Given the description of an element on the screen output the (x, y) to click on. 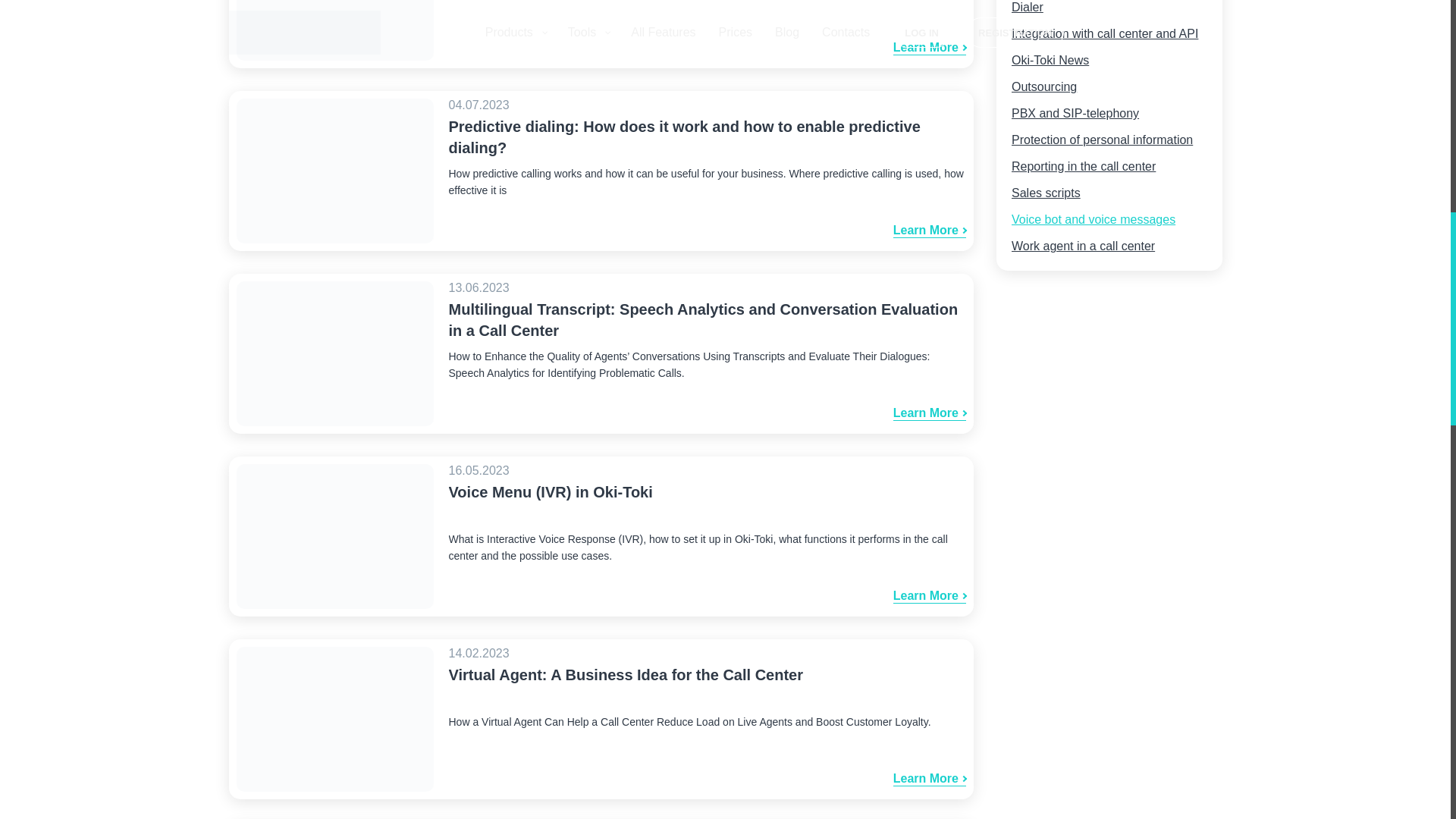
Learn More (929, 230)
Learn More (929, 47)
